Given the description of an element on the screen output the (x, y) to click on. 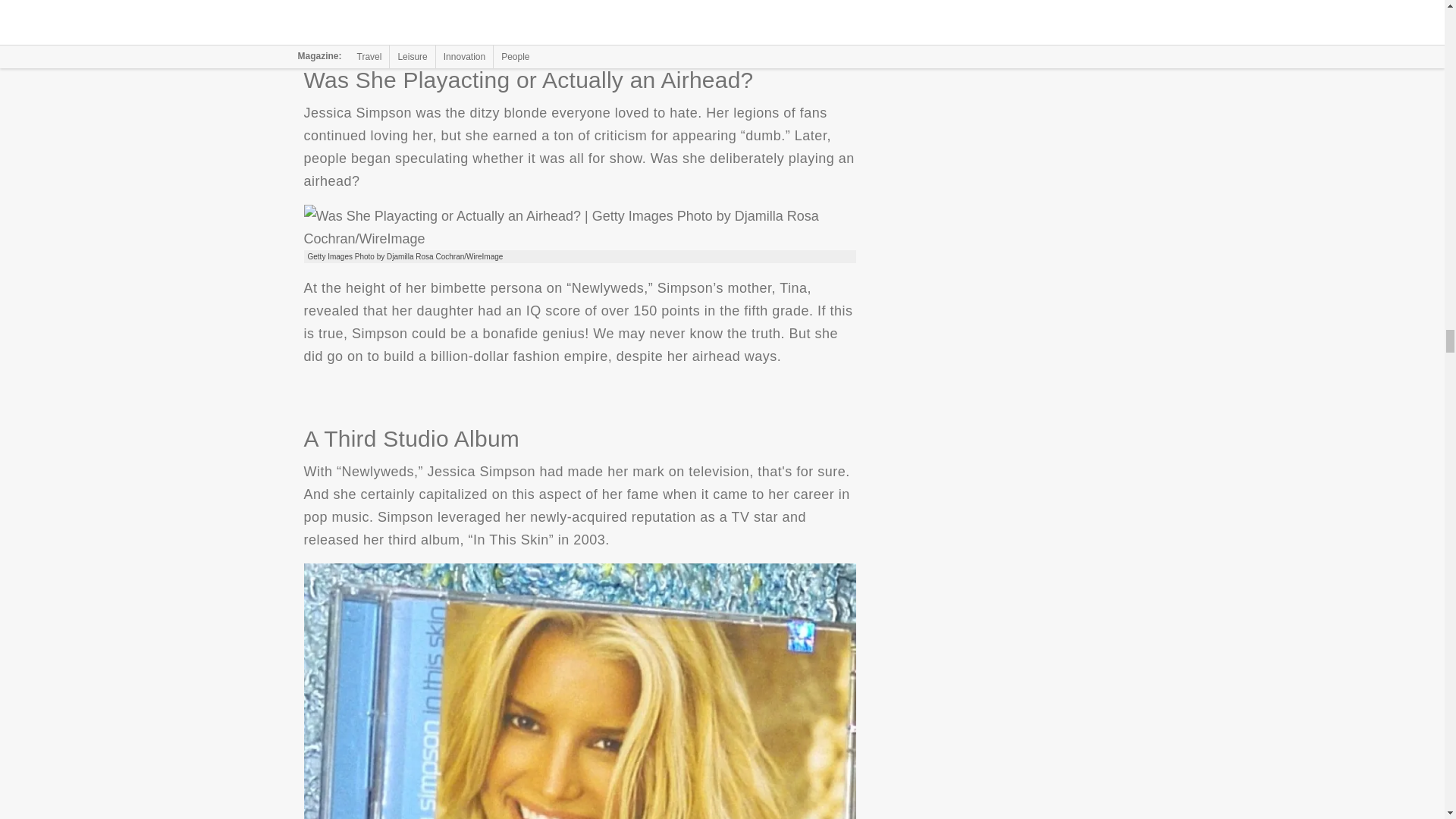
Was She Playacting or Actually an Airhead? (579, 227)
